Given the description of an element on the screen output the (x, y) to click on. 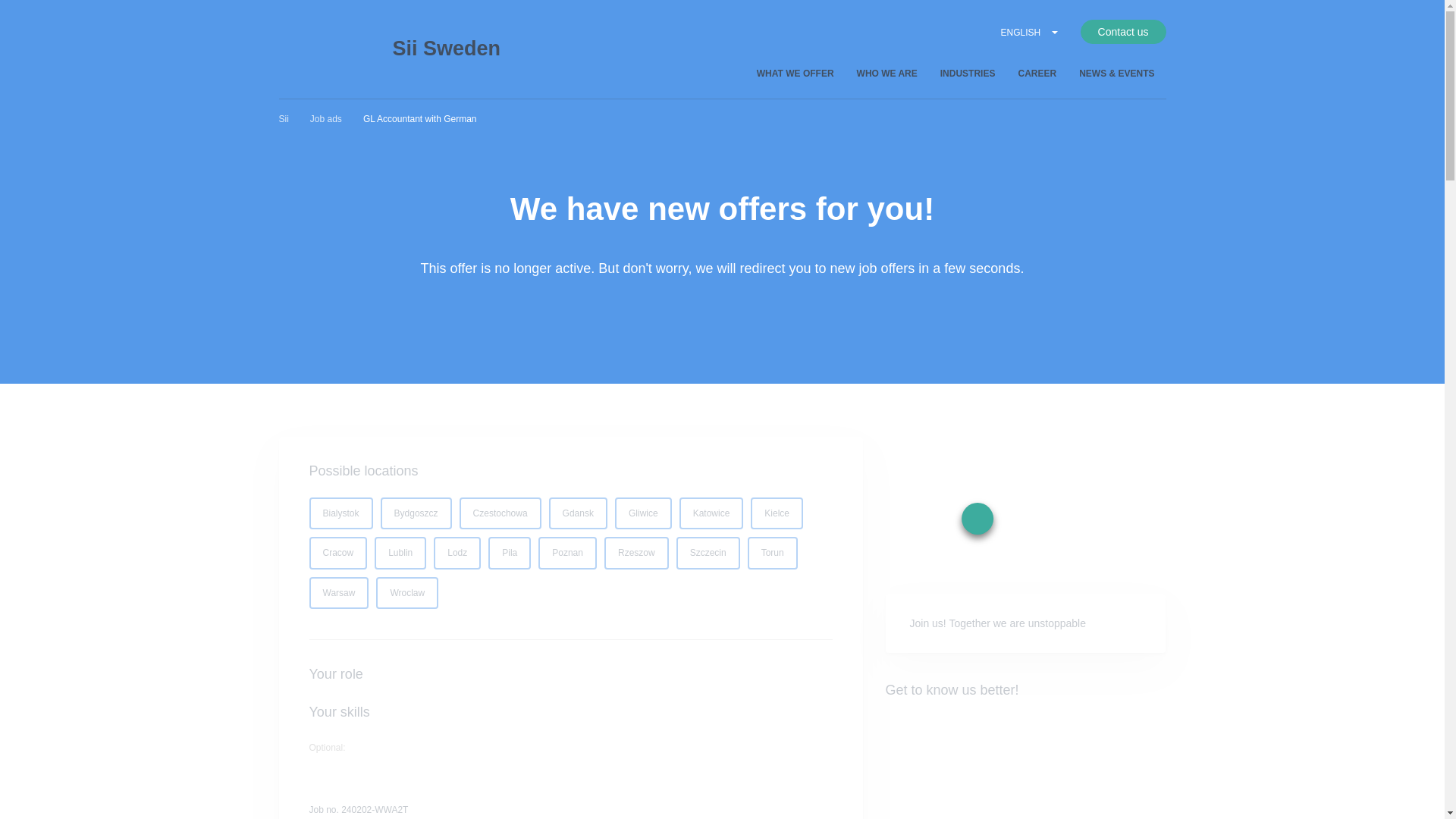
Sii-IT service and solutions company (325, 45)
